Given the description of an element on the screen output the (x, y) to click on. 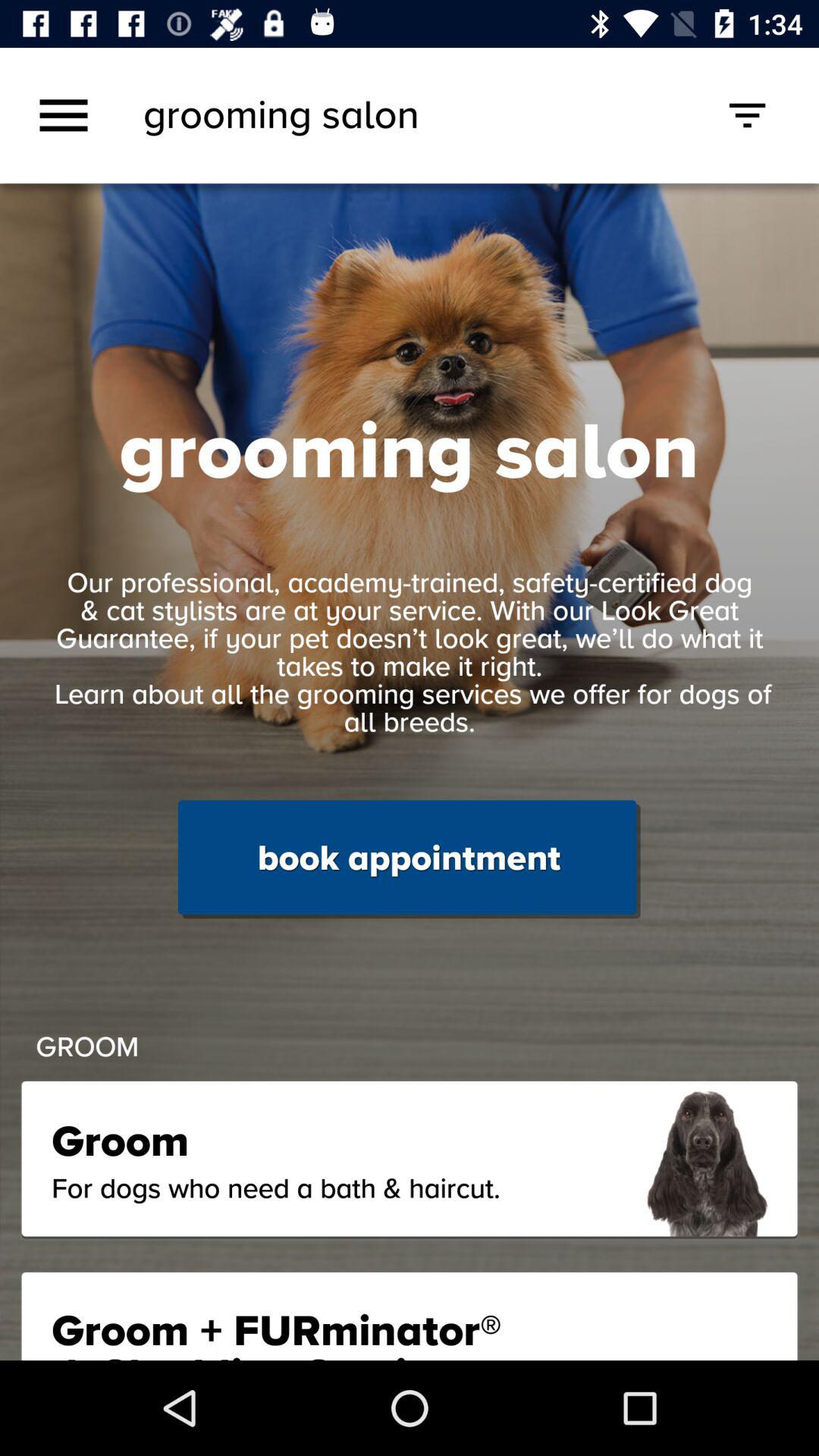
choose icon at the top left corner (63, 115)
